Given the description of an element on the screen output the (x, y) to click on. 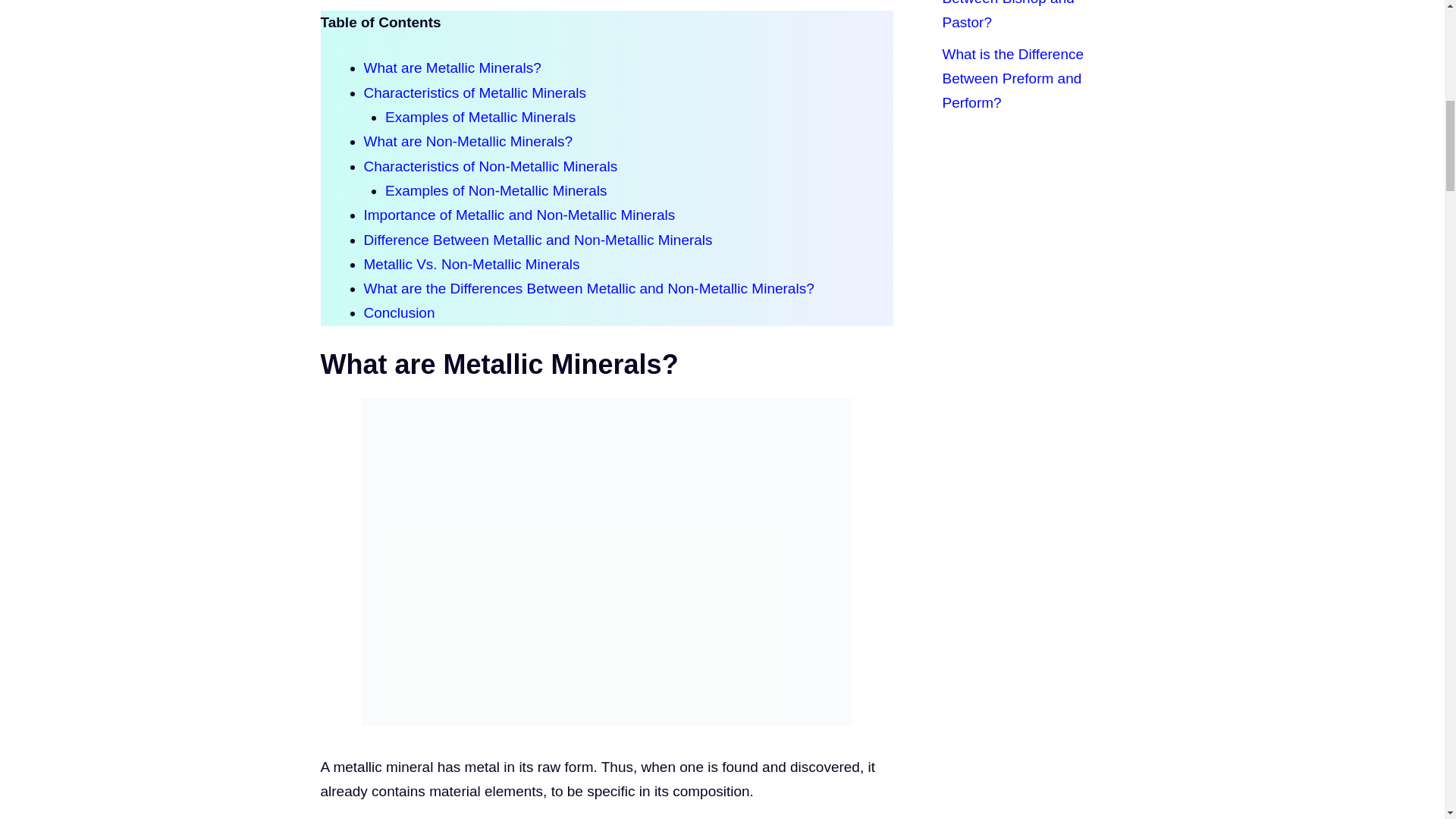
What are Metallic Minerals? (452, 67)
Difference Between Metallic and Non-Metallic Minerals (538, 239)
Scroll back to top (1406, 720)
Characteristics of Metallic Minerals (475, 92)
Importance of Metallic and Non-Metallic Minerals (519, 214)
Characteristics of Non-Metallic Minerals (490, 166)
Examples of Non-Metallic Minerals (496, 190)
Examples of Metallic Minerals (480, 116)
Conclusion (399, 312)
Metallic Vs. Non-Metallic Minerals (471, 263)
What are Non-Metallic Minerals? (468, 141)
